Given the description of an element on the screen output the (x, y) to click on. 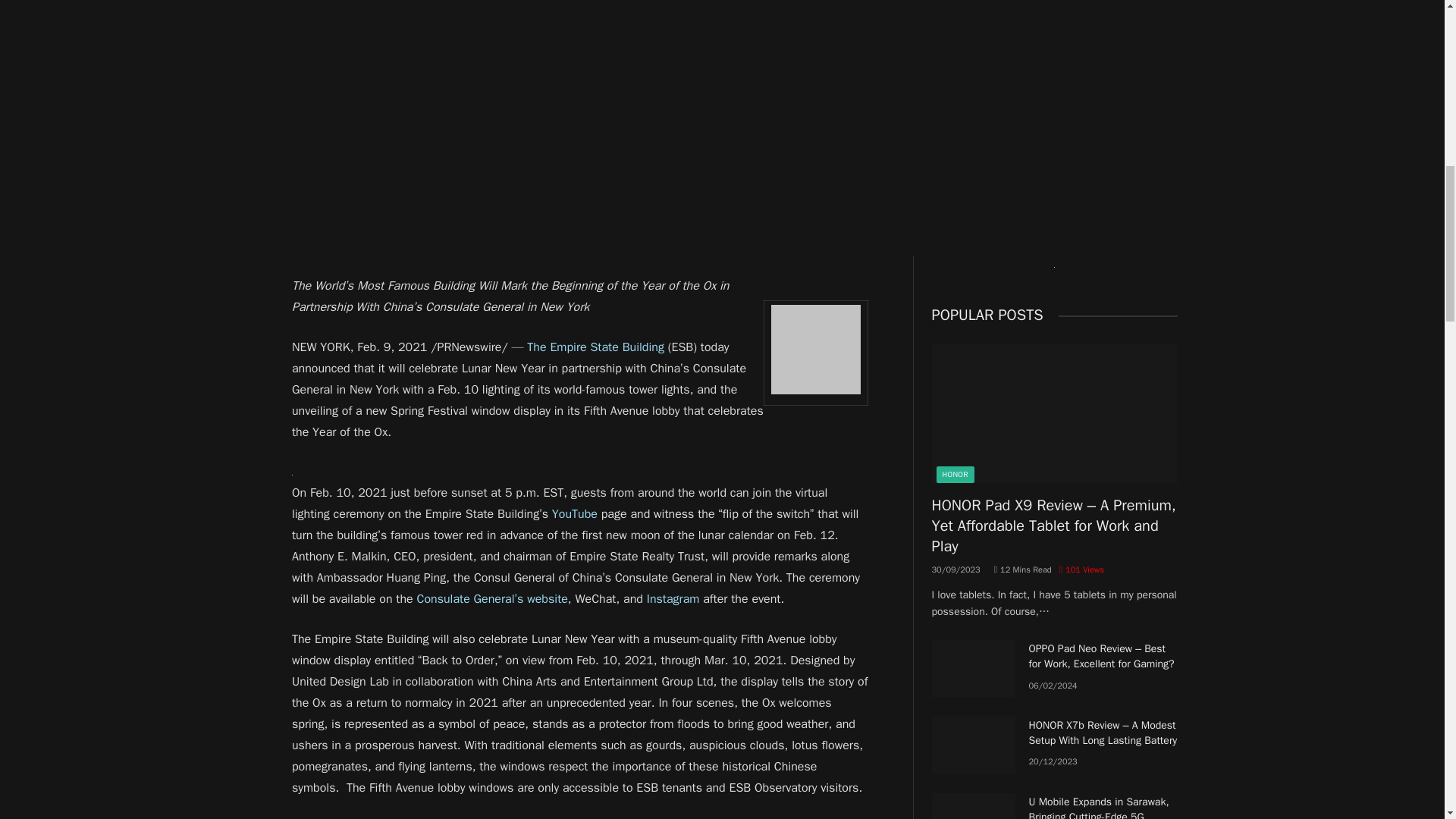
logo (815, 348)
